Given the description of an element on the screen output the (x, y) to click on. 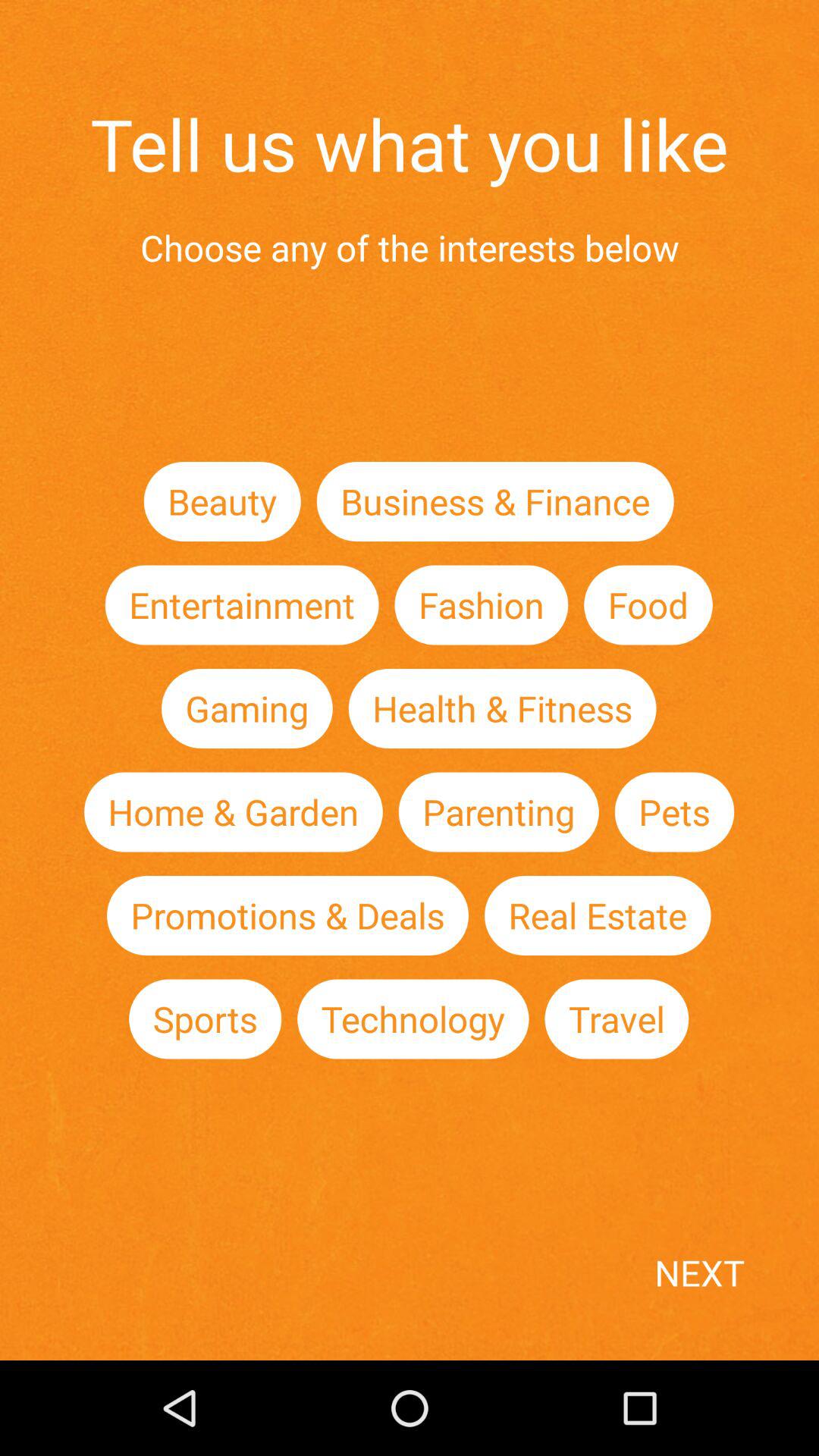
tap icon next to the food icon (481, 604)
